Given the description of an element on the screen output the (x, y) to click on. 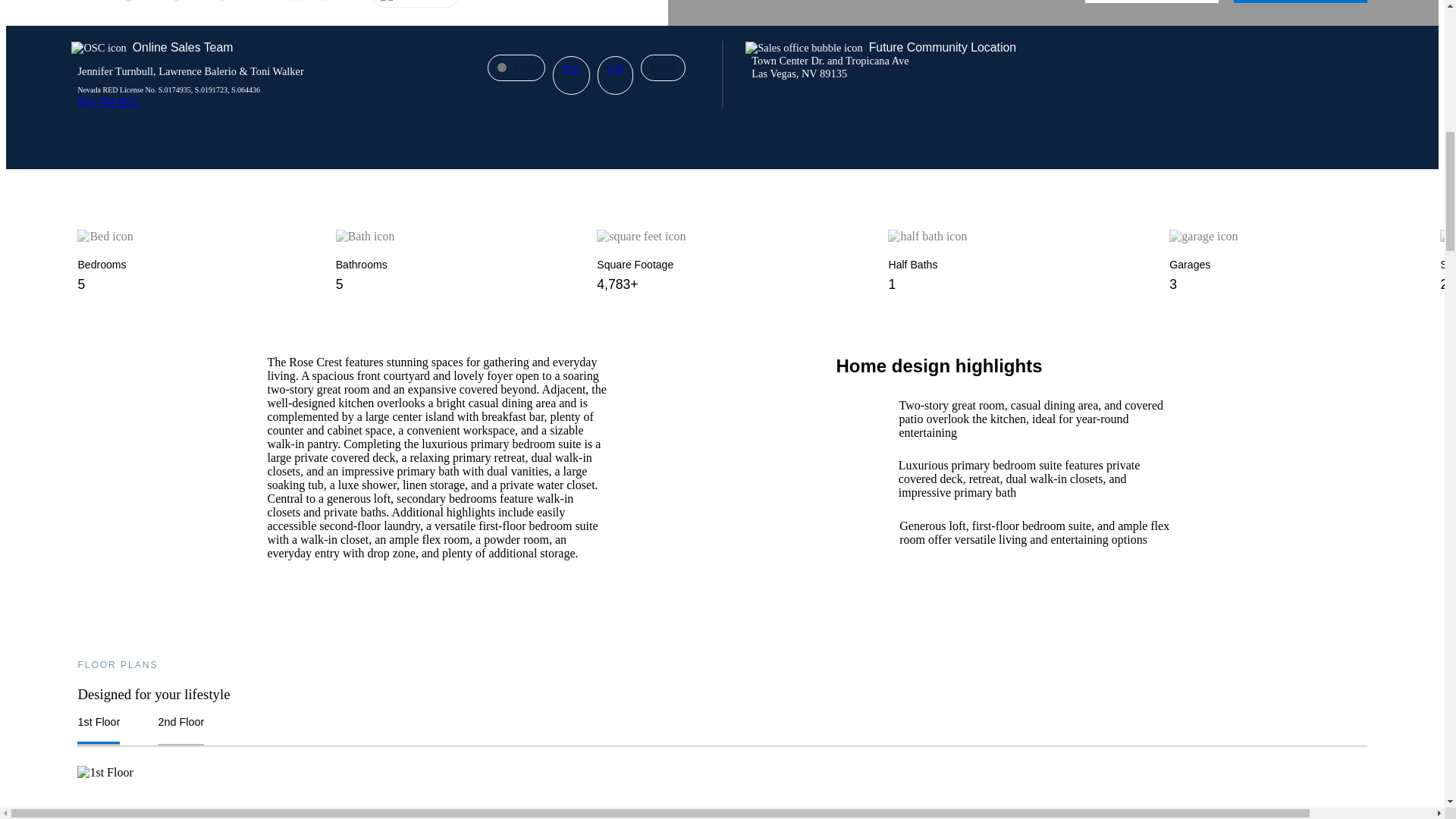
Call our Online Sales Team (614, 75)
Become a VIP (1300, 1)
Call (614, 75)
Contact Sales (1151, 1)
2nd Floor (180, 729)
Chat (515, 67)
Text (571, 75)
1st Floor (98, 729)
855-700-8655 (108, 101)
Text our Online Sales Team (571, 75)
Email (662, 67)
